Given the description of an element on the screen output the (x, y) to click on. 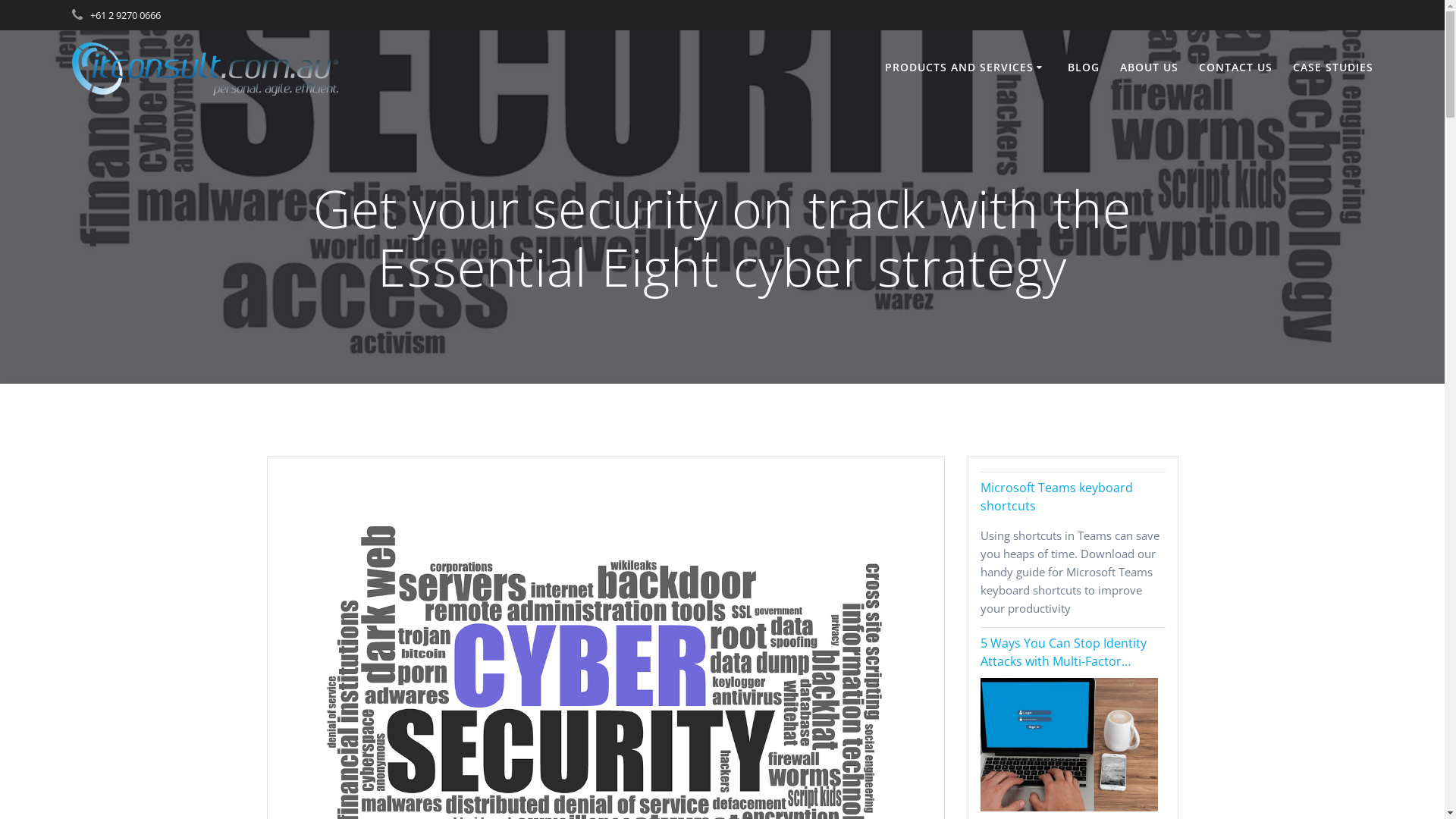
Microsoft Teams keyboard shortcuts Element type: text (1071, 496)
CASE STUDIES Element type: text (1332, 68)
PRODUCTS AND SERVICES Element type: text (965, 68)
CONTACT US Element type: text (1235, 68)
BLOG Element type: text (1083, 68)
ABOUT US Element type: text (1149, 68)
